Given the description of an element on the screen output the (x, y) to click on. 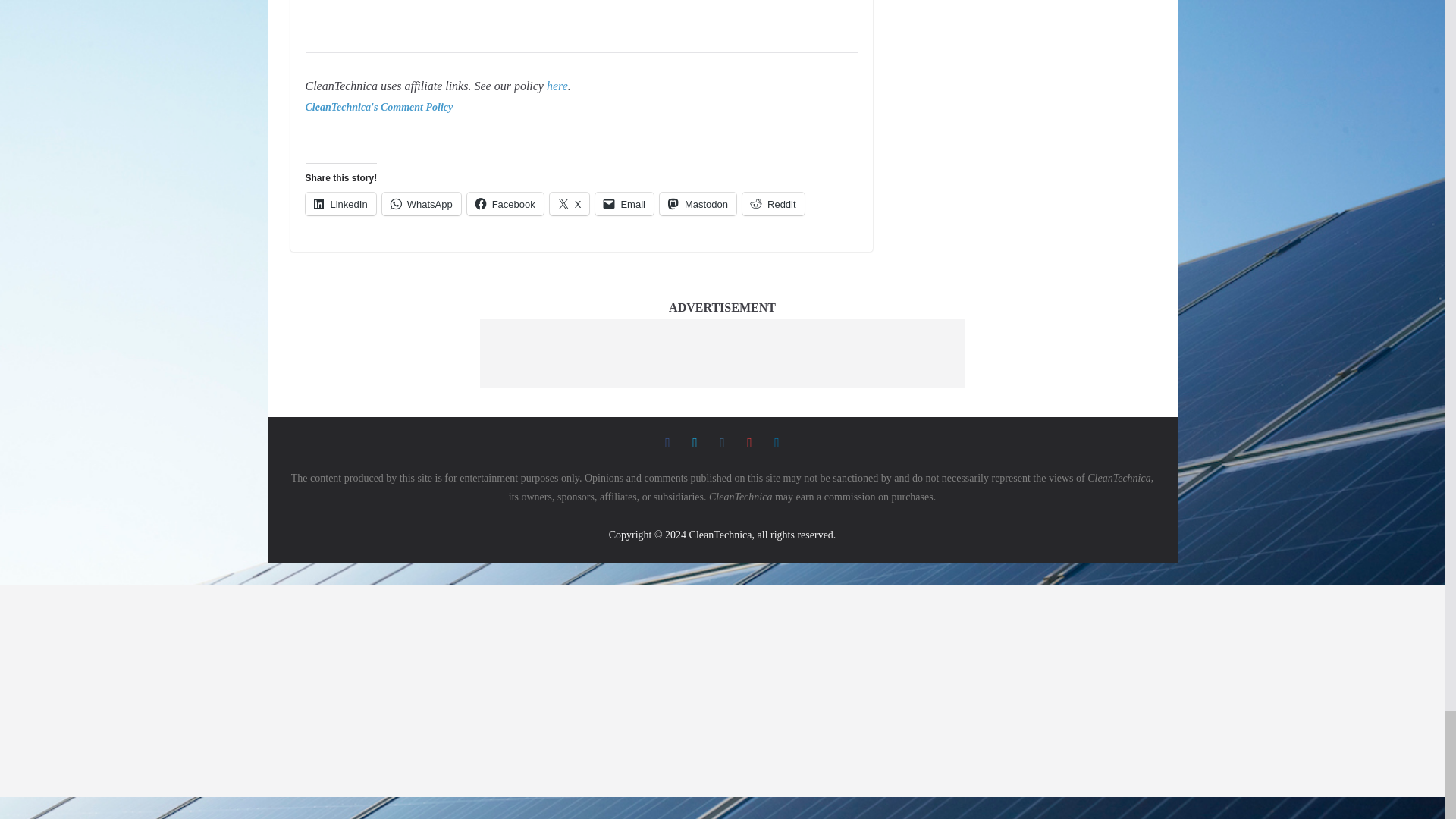
Click to share on WhatsApp (421, 203)
Click to share on LinkedIn (339, 203)
Click to email a link to a friend (624, 203)
Click to share on X (569, 203)
Click to share on Mastodon (697, 203)
Click to share on Facebook (505, 203)
Click to share on Reddit (773, 203)
